Given the description of an element on the screen output the (x, y) to click on. 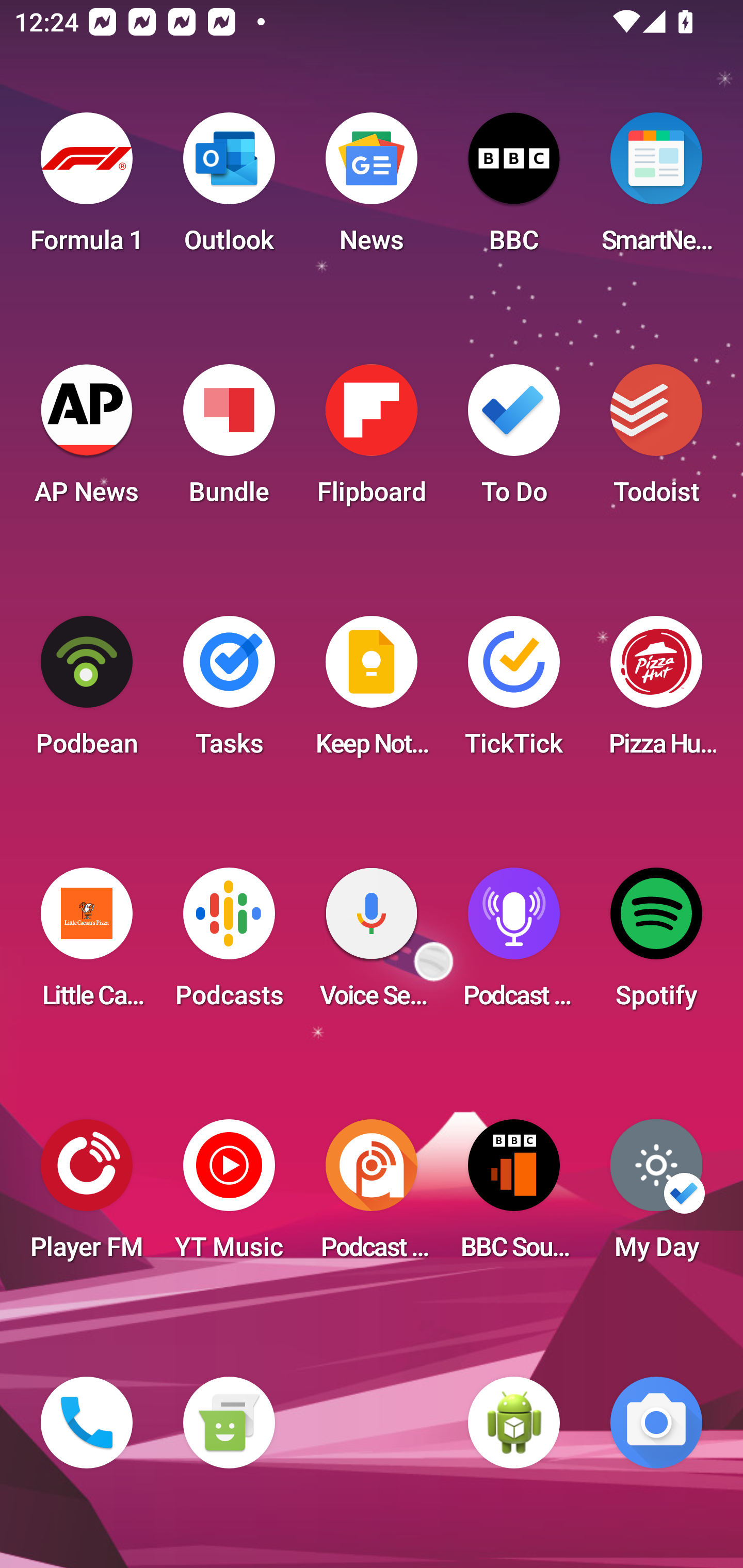
Formula 1 (86, 188)
Outlook (228, 188)
News (371, 188)
BBC (513, 188)
SmartNews (656, 188)
AP News (86, 440)
Bundle (228, 440)
Flipboard (371, 440)
To Do (513, 440)
Todoist (656, 440)
Podbean (86, 692)
Tasks (228, 692)
Keep Notes (371, 692)
TickTick (513, 692)
Pizza Hut HK & Macau (656, 692)
Little Caesars Pizza (86, 943)
Podcasts (228, 943)
Voice Search (371, 943)
Podcast Player (513, 943)
Spotify (656, 943)
Player FM (86, 1195)
YT Music (228, 1195)
Podcast Addict (371, 1195)
BBC Sounds (513, 1195)
My Day (656, 1195)
Phone (86, 1422)
Messaging (228, 1422)
WebView Browser Tester (513, 1422)
Camera (656, 1422)
